Given the description of an element on the screen output the (x, y) to click on. 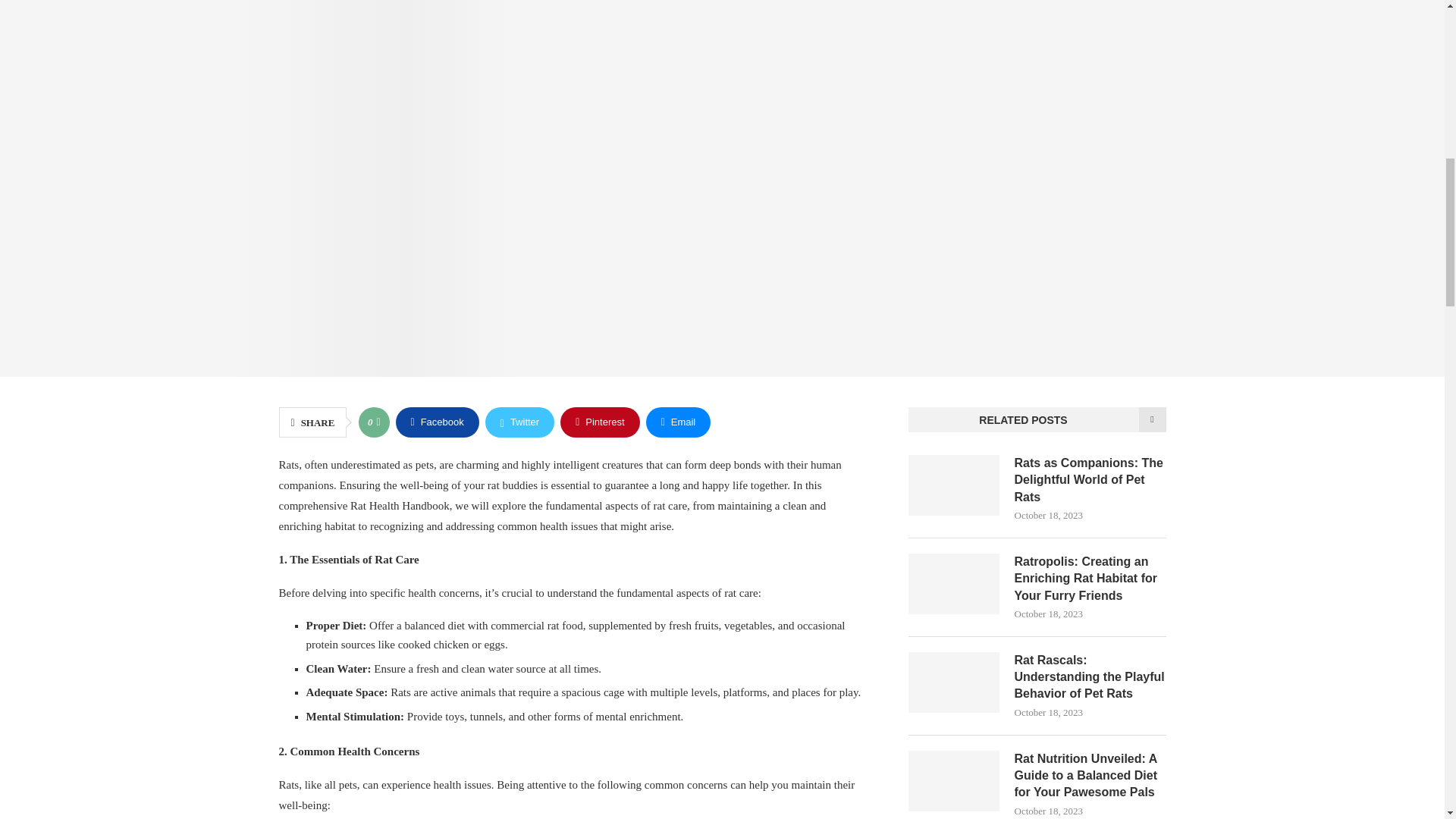
Rats as Companions: The Delightful World of Pet Rats (1090, 480)
Rats as Companions: The Delightful World of Pet Rats (953, 485)
